Given the description of an element on the screen output the (x, y) to click on. 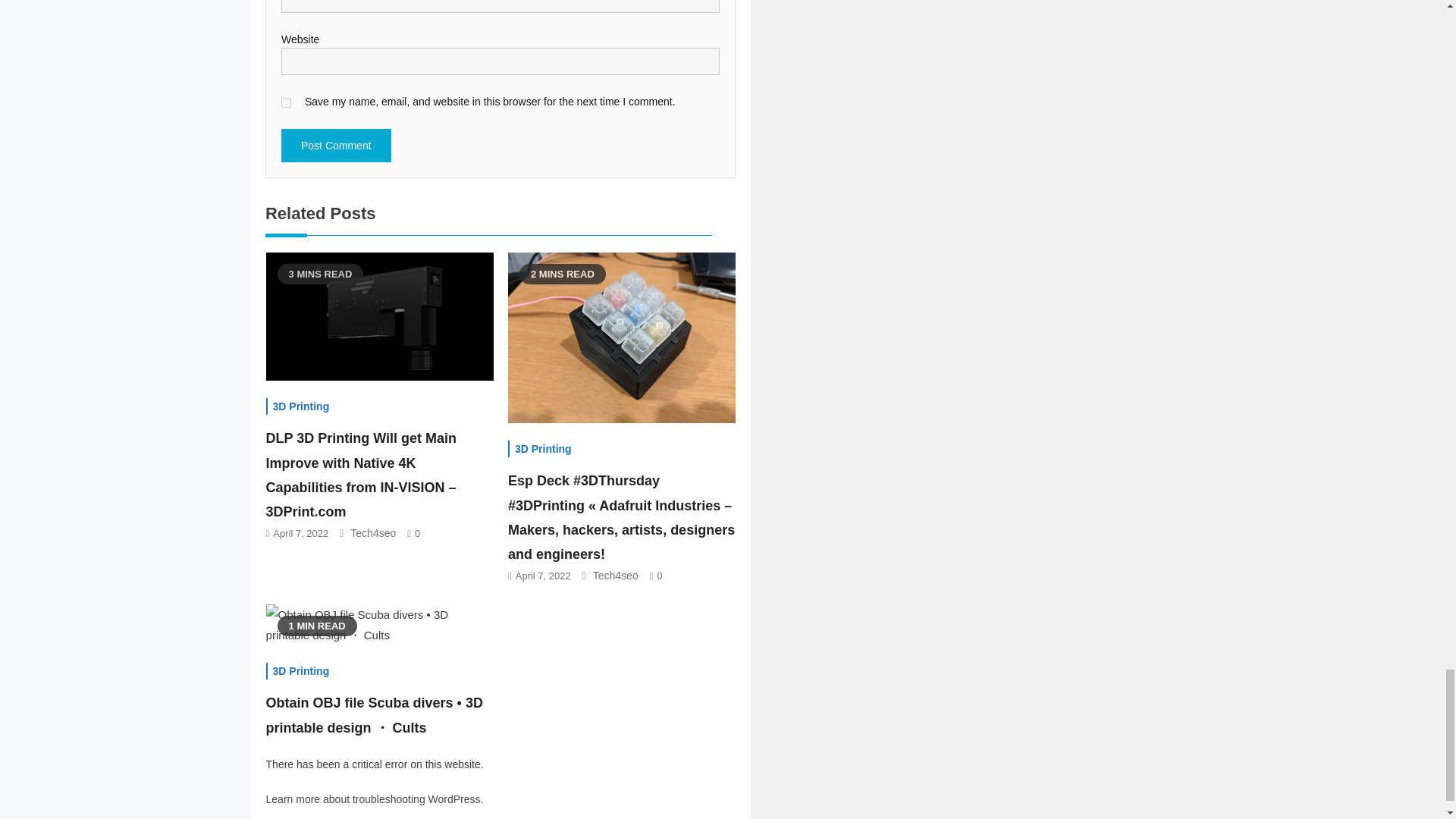
Post Comment (336, 145)
yes (286, 102)
